Given the description of an element on the screen output the (x, y) to click on. 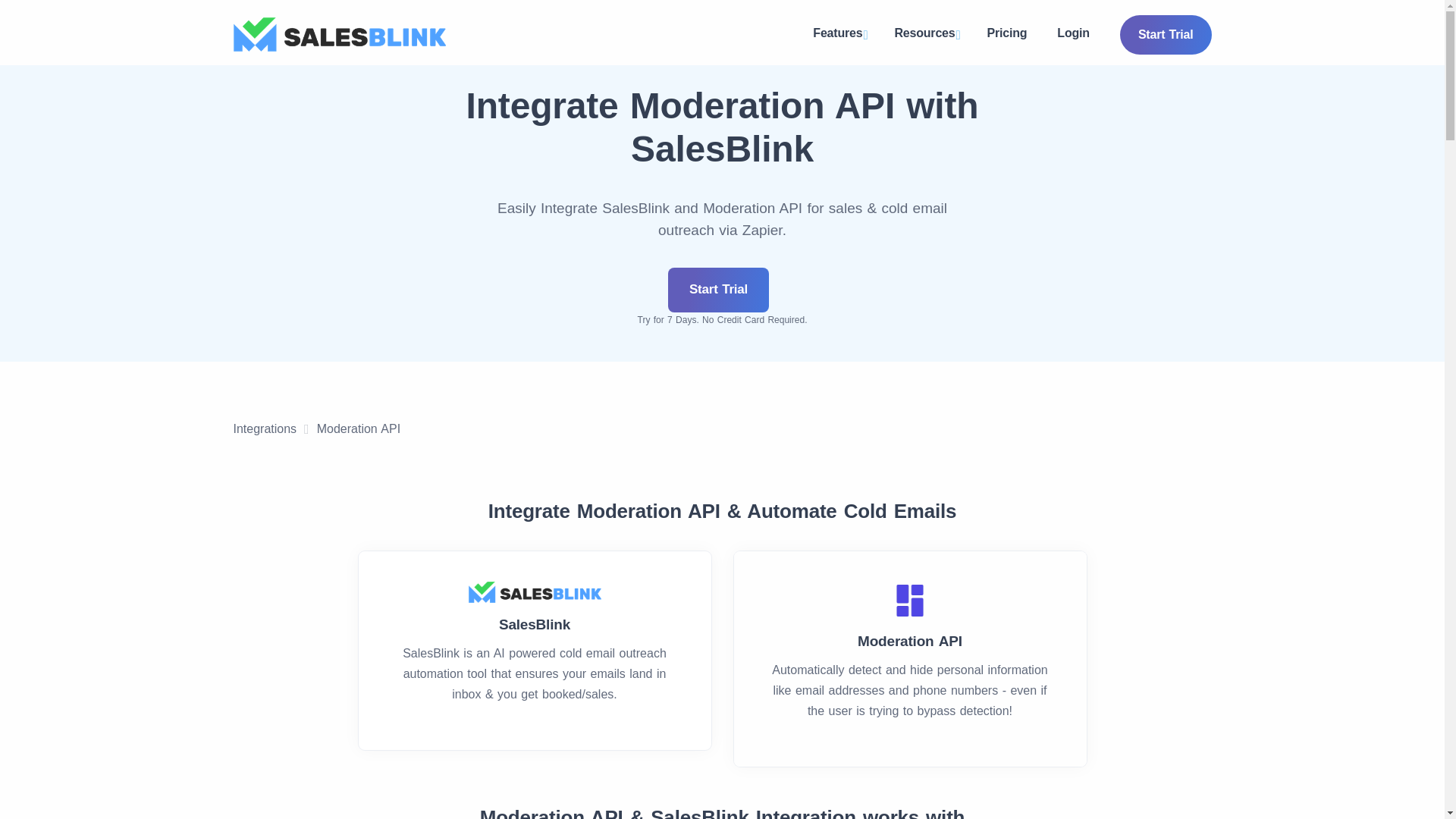
Features (838, 34)
Pricing (1007, 32)
Start Trial (718, 289)
SalesBlink Logo (534, 591)
Moderation API Logo (909, 600)
Resources (925, 34)
SalesBlink Logo (338, 34)
Moderation API (358, 429)
Start Trial (1165, 34)
Integrations (264, 429)
Login (1073, 32)
